Given the description of an element on the screen output the (x, y) to click on. 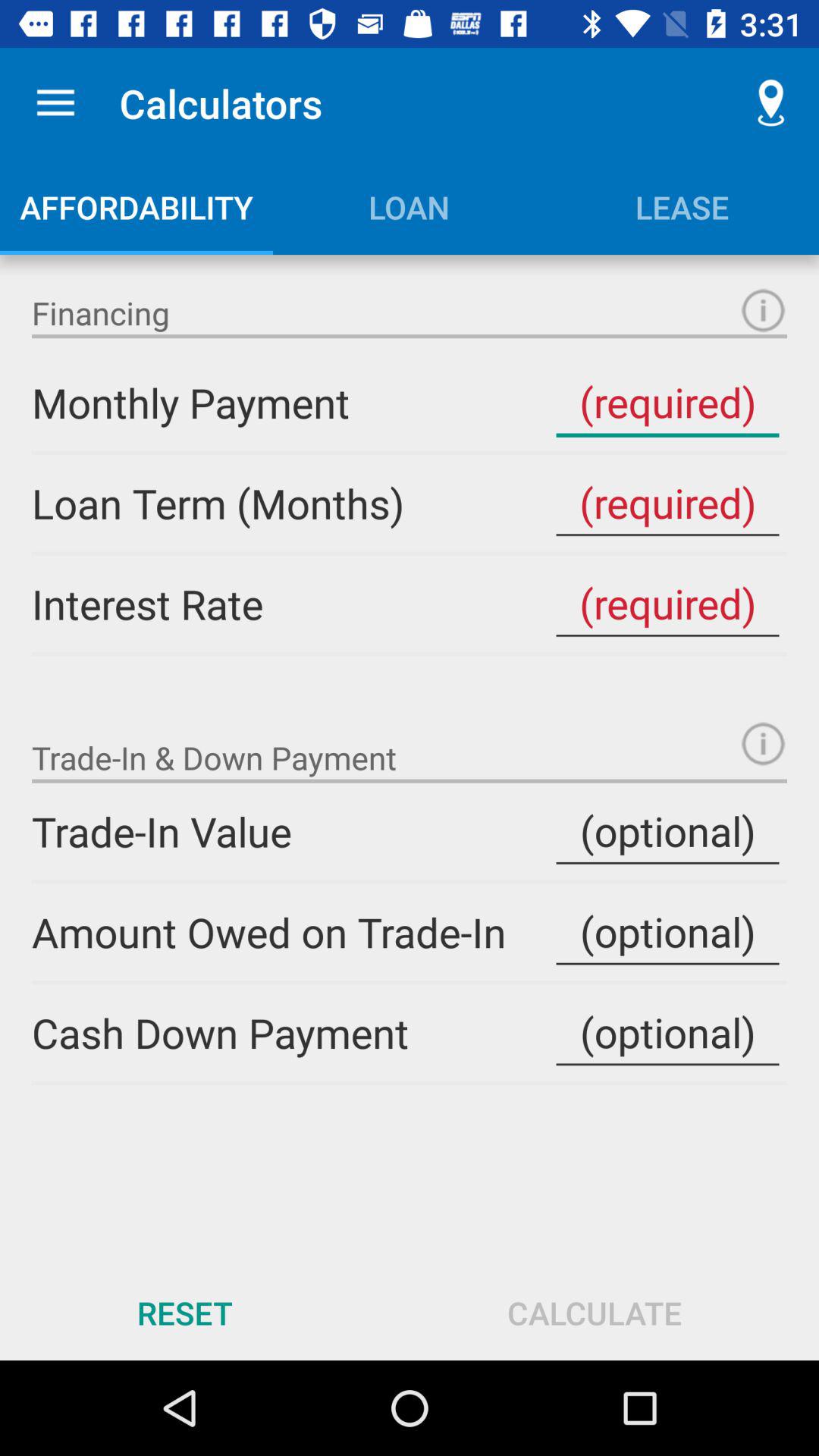
enter the interest rate (667, 603)
